Given the description of an element on the screen output the (x, y) to click on. 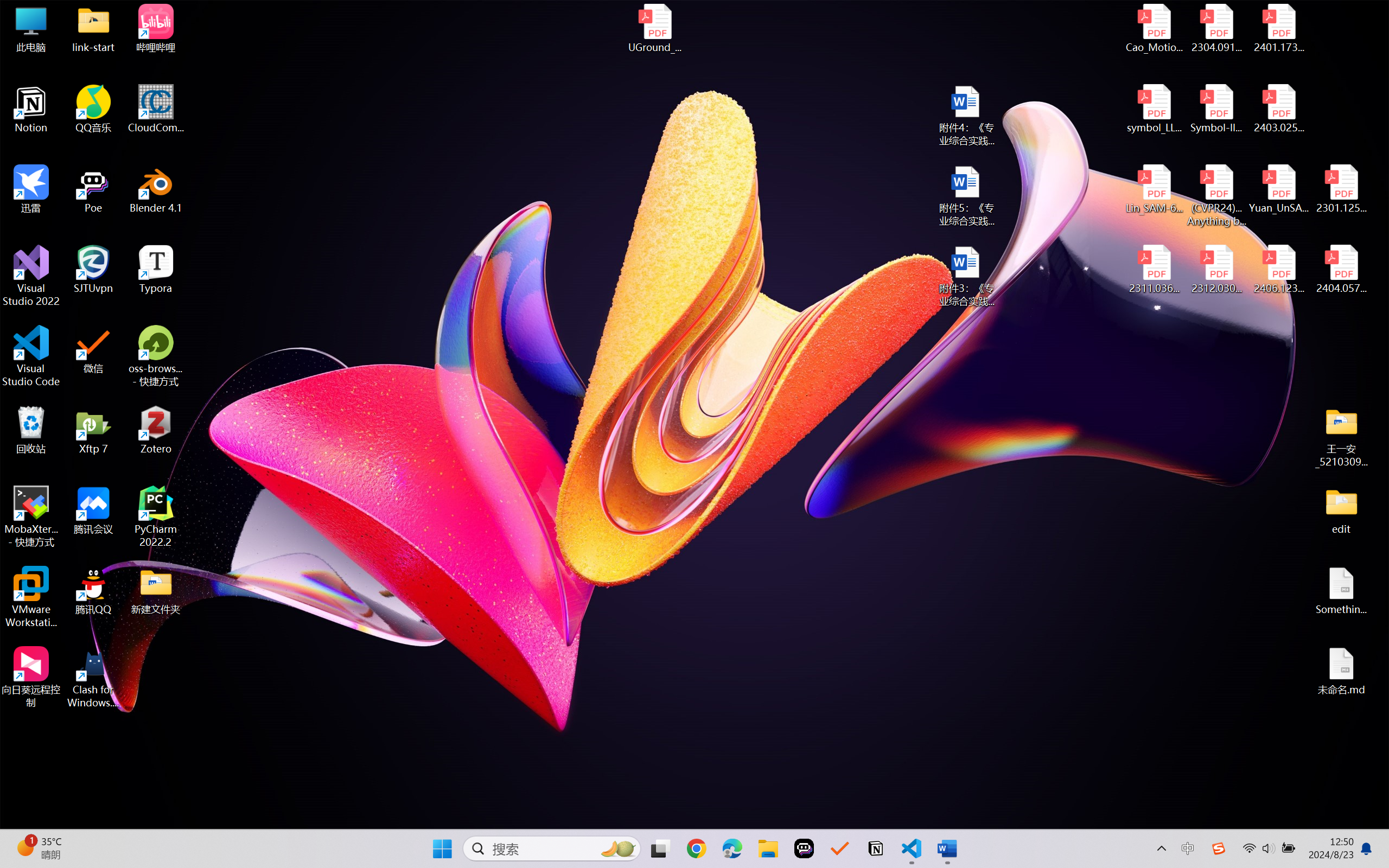
2311.03658v2.pdf (1154, 269)
2404.05719v1.pdf (1340, 269)
symbol_LLM.pdf (1154, 109)
Xftp 7 (93, 430)
edit (1340, 510)
